Given the description of an element on the screen output the (x, y) to click on. 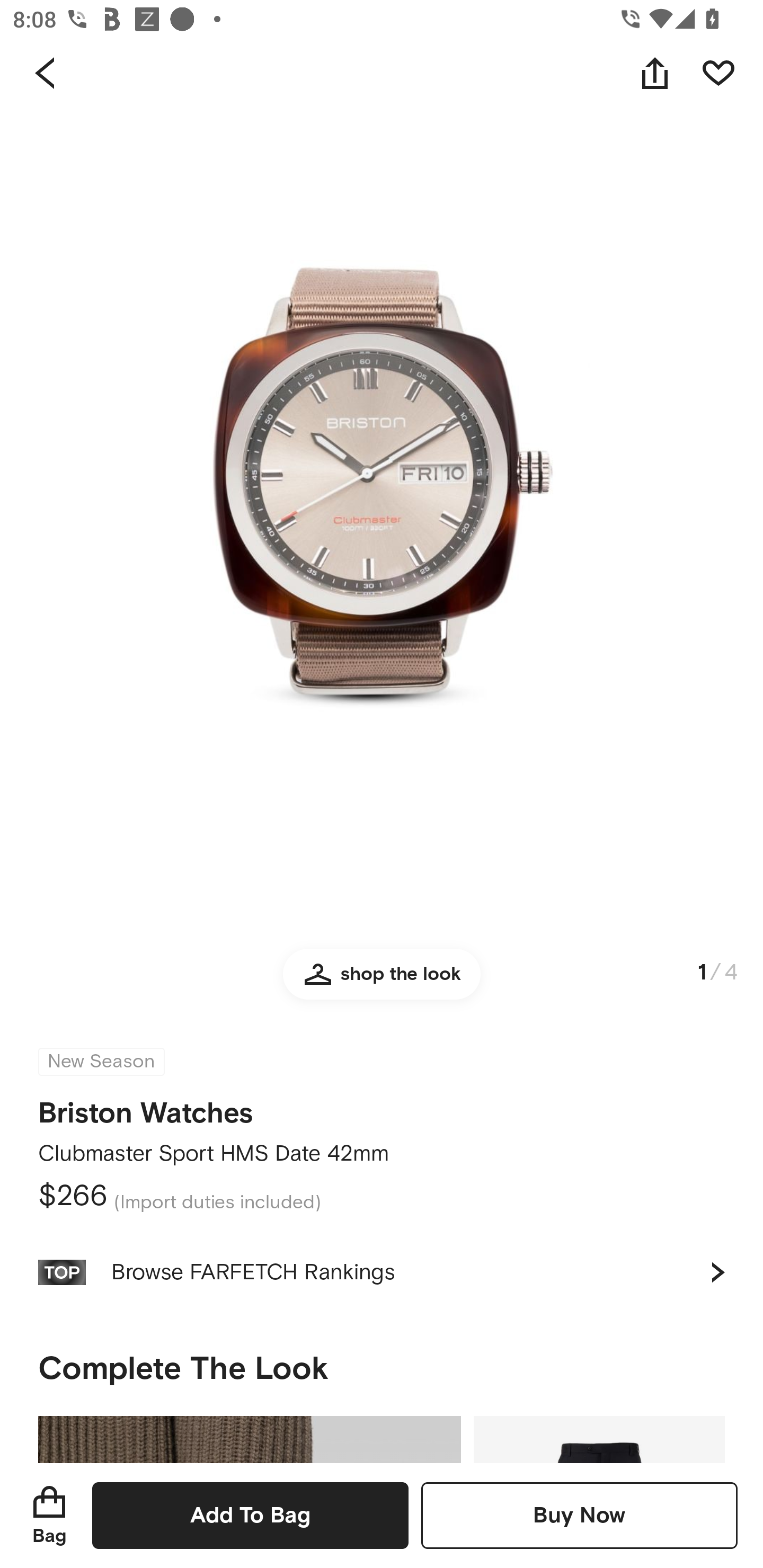
shop the look (381, 982)
Briston Watches (145, 1107)
Browse FARFETCH Rankings (381, 1272)
Bag (49, 1515)
Add To Bag (250, 1515)
Buy Now (579, 1515)
